Given the description of an element on the screen output the (x, y) to click on. 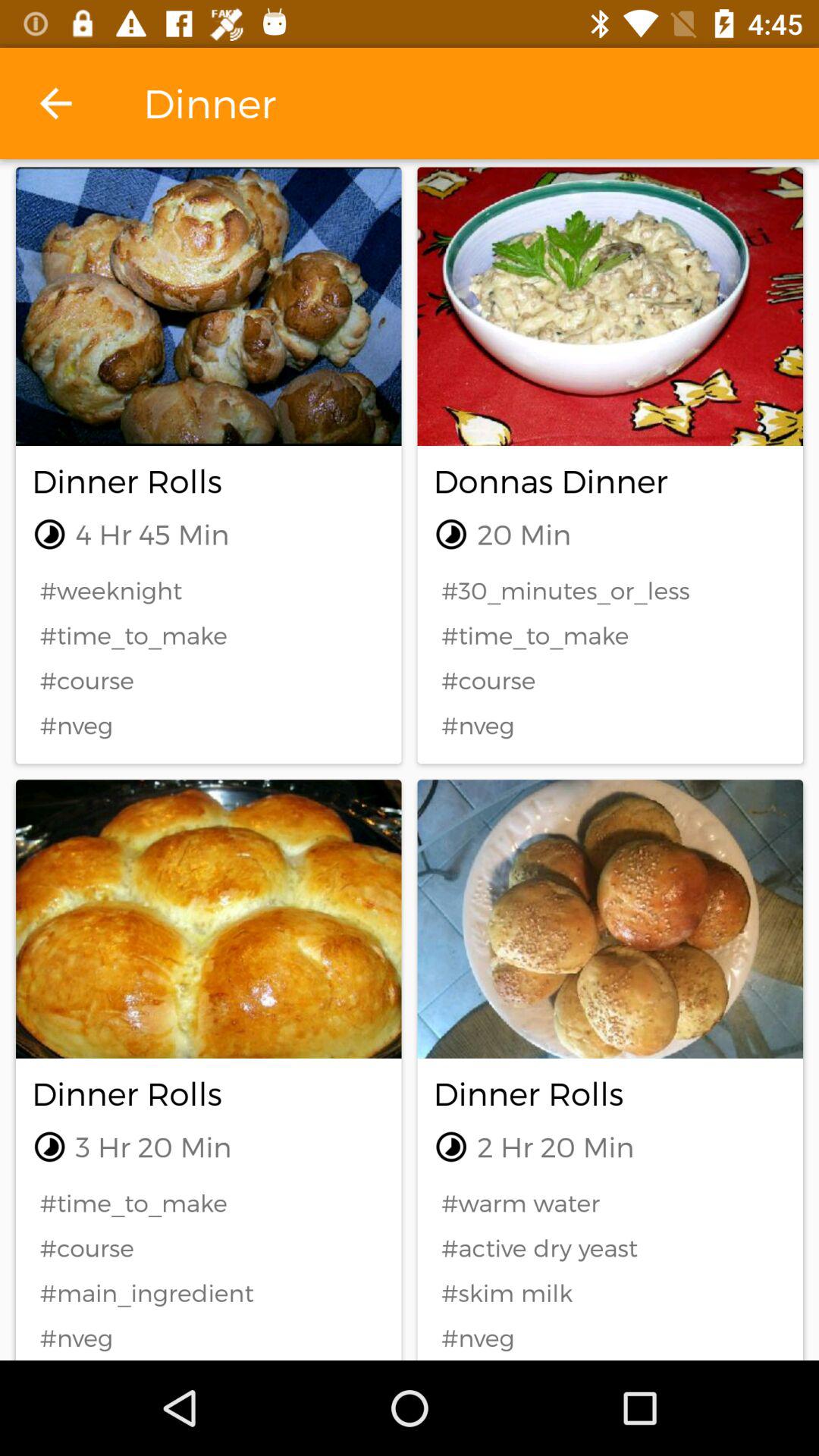
launch item to the left of the #active dry yeast (208, 1292)
